Given the description of an element on the screen output the (x, y) to click on. 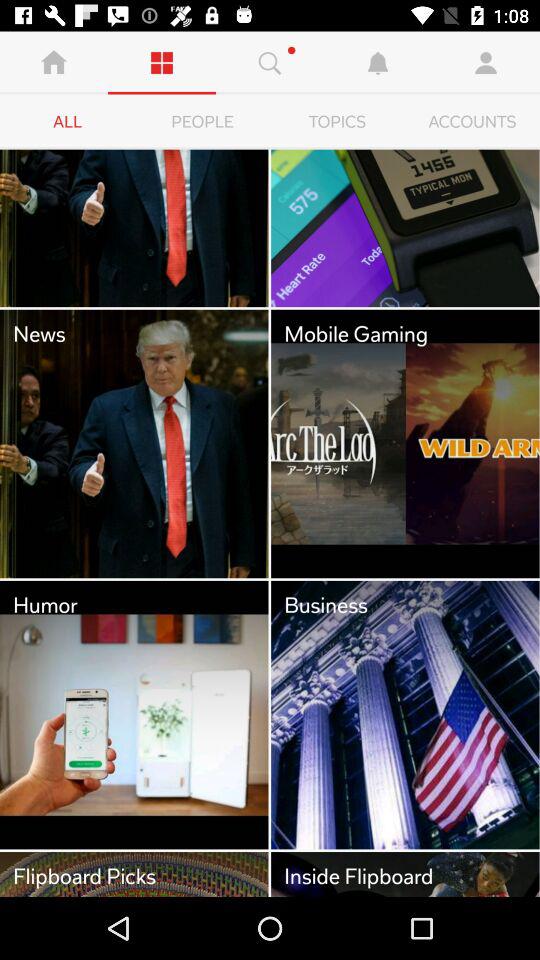
select icon next to the topics item (472, 121)
